Given the description of an element on the screen output the (x, y) to click on. 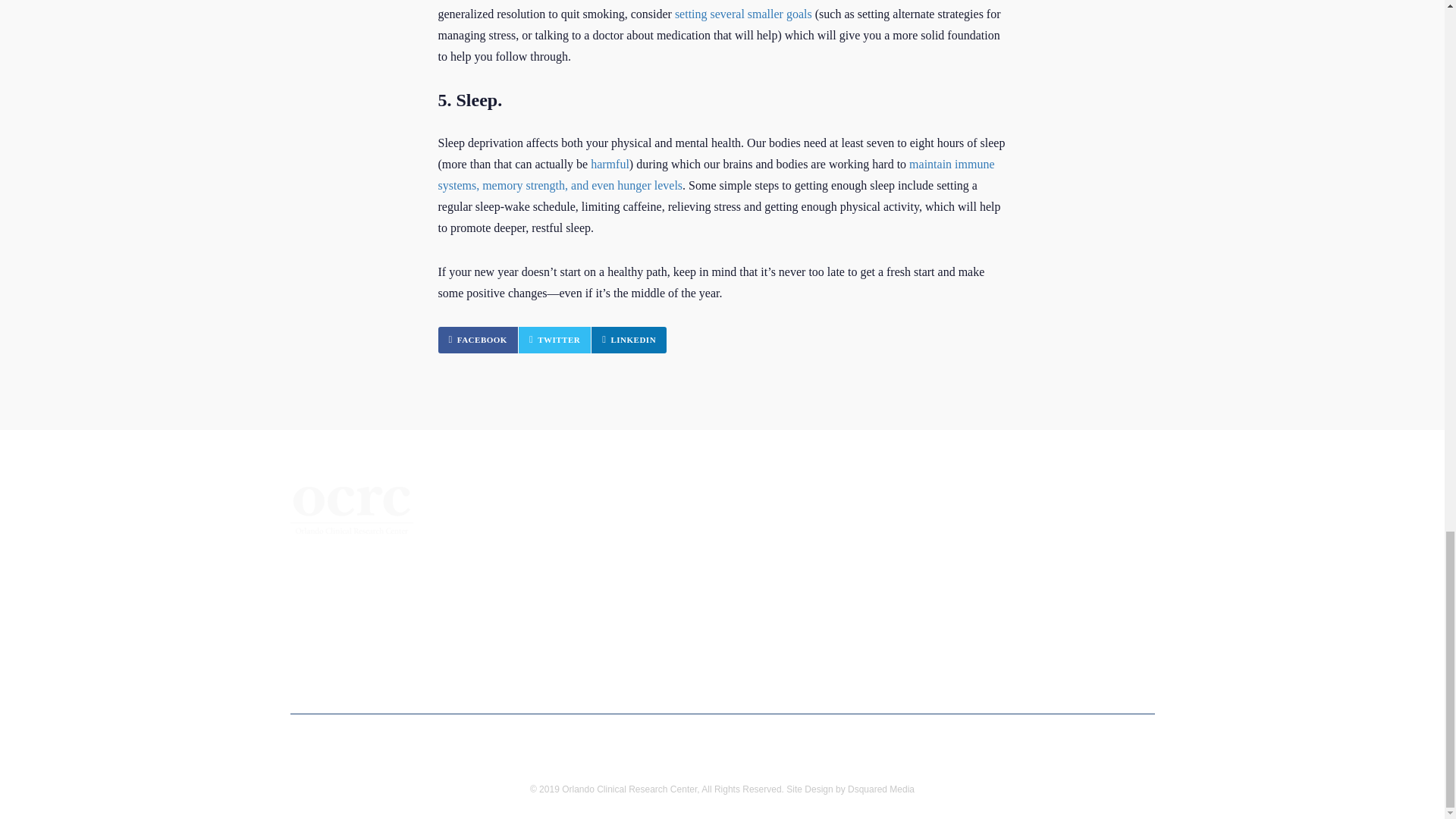
Twitter (554, 339)
Home (526, 528)
harmful (609, 164)
LINKEDIN (628, 339)
407.240.7878 (355, 611)
setting several smaller goals (743, 13)
About Us (535, 555)
Dsquared Media (880, 788)
TWITTER (554, 339)
407.240.7878 (355, 611)
FACEBOOK (478, 339)
